Given the description of an element on the screen output the (x, y) to click on. 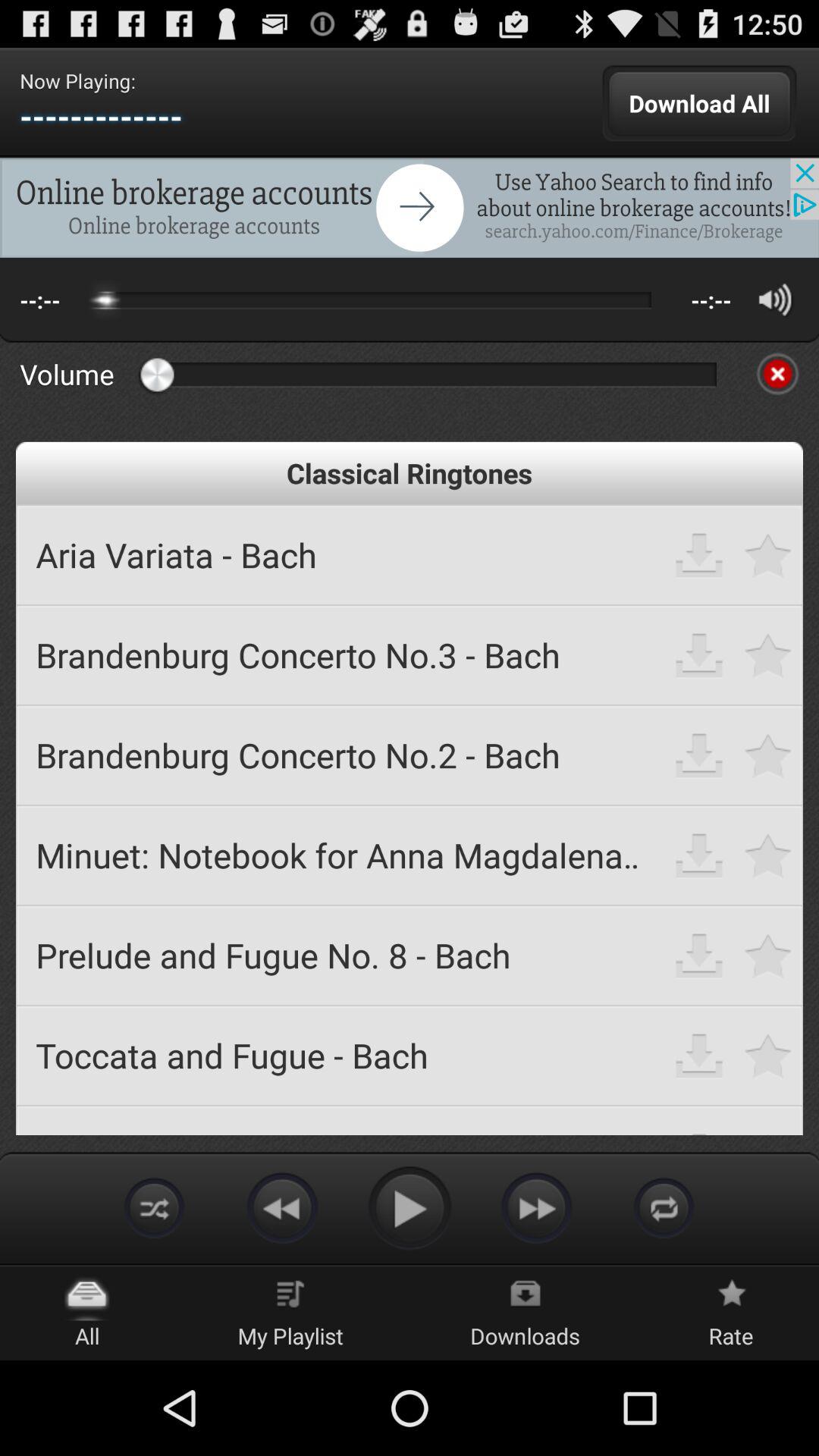
favorite song (768, 1054)
